Given the description of an element on the screen output the (x, y) to click on. 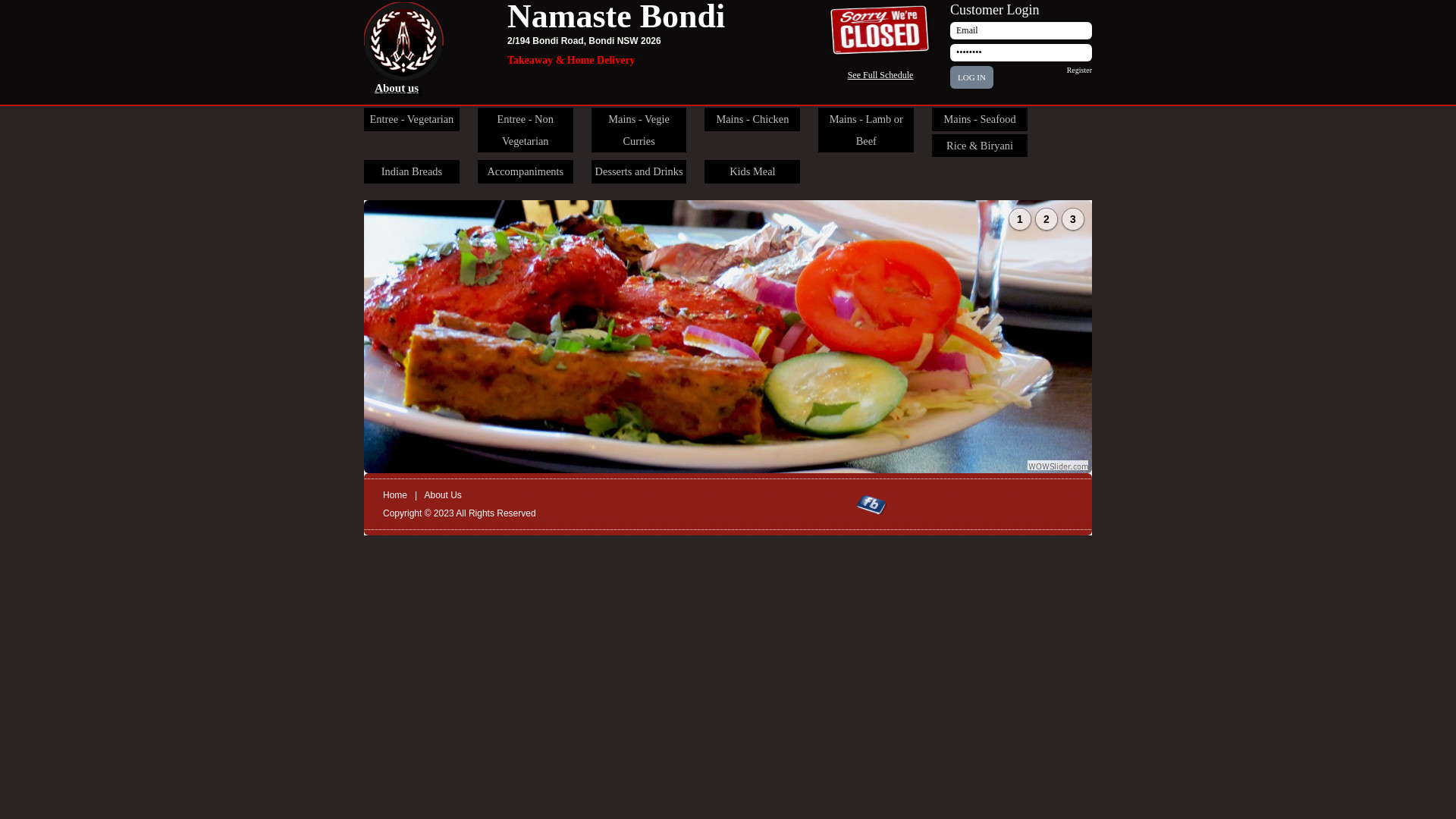
Welcome to Namaste Element type: hover (728, 336)
Accompaniments Element type: text (525, 171)
Rice & Biryani Element type: text (979, 145)
Indian Breads Element type: text (411, 171)
3 Element type: text (1072, 218)
2 Element type: text (1046, 218)
Mains - Chicken Element type: text (752, 119)
  Element type: text (431, 40)
Register Element type: text (1079, 69)
Entree - Non Vegetarian Element type: text (525, 130)
Follow Us on Facebook Element type: hover (871, 504)
About Us Element type: text (442, 494)
Desserts and Drinks Element type: text (639, 171)
Mains - Vegie Curries Element type: text (639, 130)
Email Element type: text (1021, 30)
1 Element type: text (1019, 218)
Entree - Vegetarian Element type: text (411, 119)
About us Element type: text (396, 87)
Mains - Lamb or Beef Element type: text (865, 130)
Password Element type: text (1021, 52)
Home Element type: text (394, 494)
LOG IN Element type: text (971, 76)
Mains - Seafood Element type: text (979, 119)
Kids Meal Element type: text (752, 171)
See Full Schedule Element type: text (880, 74)
